Given the description of an element on the screen output the (x, y) to click on. 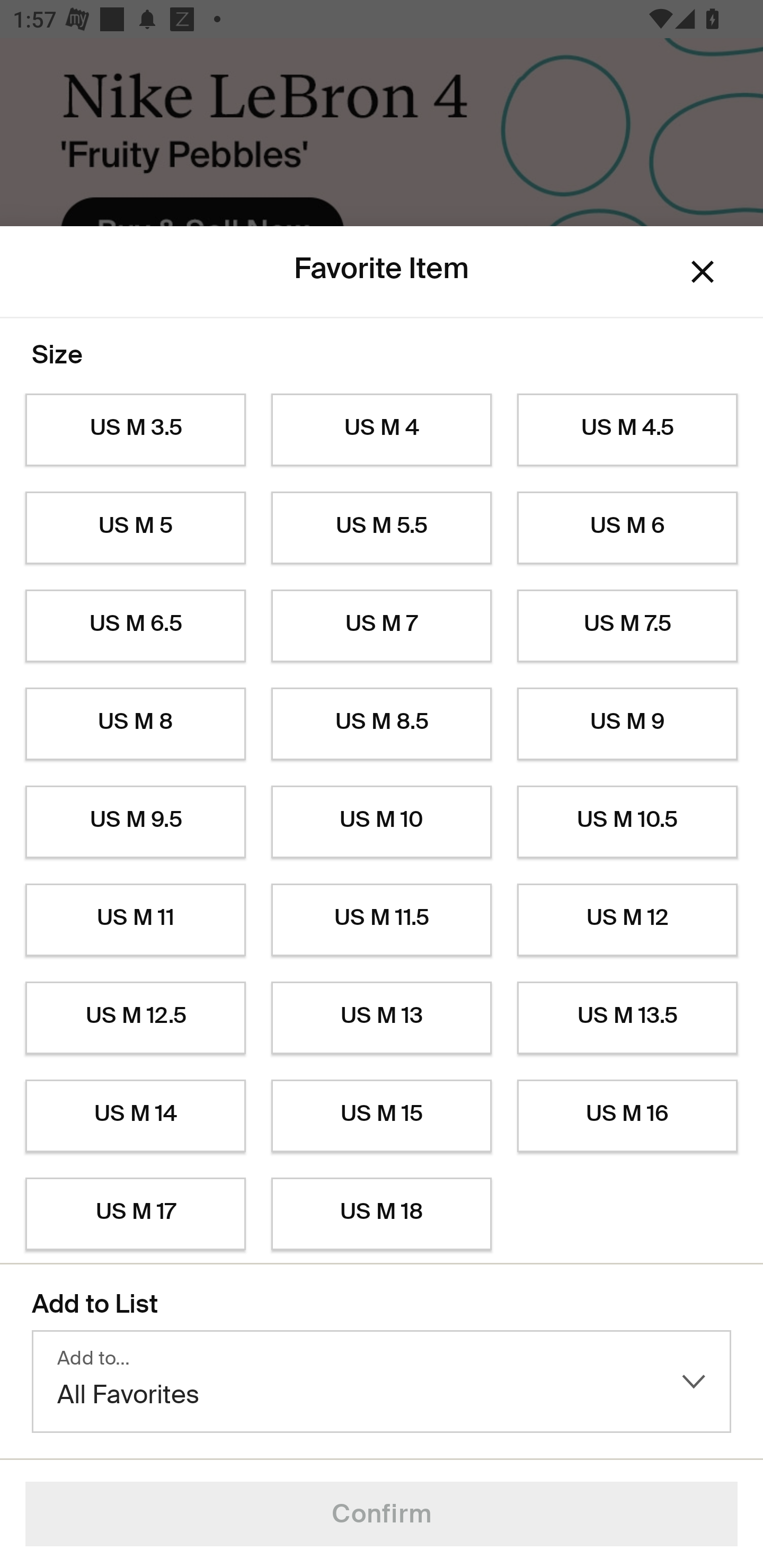
Dismiss (702, 271)
US M 3.5 (135, 430)
US M 4 (381, 430)
US M 4.5 (627, 430)
US M 5 (135, 527)
US M 5.5 (381, 527)
US M 6 (627, 527)
US M 6.5 (135, 626)
US M 7 (381, 626)
US M 7.5 (627, 626)
US M 8 (135, 724)
US M 8.5 (381, 724)
US M 9 (627, 724)
US M 9.5 (135, 822)
US M 10 (381, 822)
US M 10.5 (627, 822)
US M 11 (135, 919)
US M 11.5 (381, 919)
US M 12 (627, 919)
US M 12.5 (135, 1018)
US M 13 (381, 1018)
US M 13.5 (627, 1018)
US M 14 (135, 1116)
US M 15 (381, 1116)
US M 16 (627, 1116)
US M 17 (135, 1214)
US M 18 (381, 1214)
Add to… All Favorites (381, 1381)
Confirm (381, 1513)
